Given the description of an element on the screen output the (x, y) to click on. 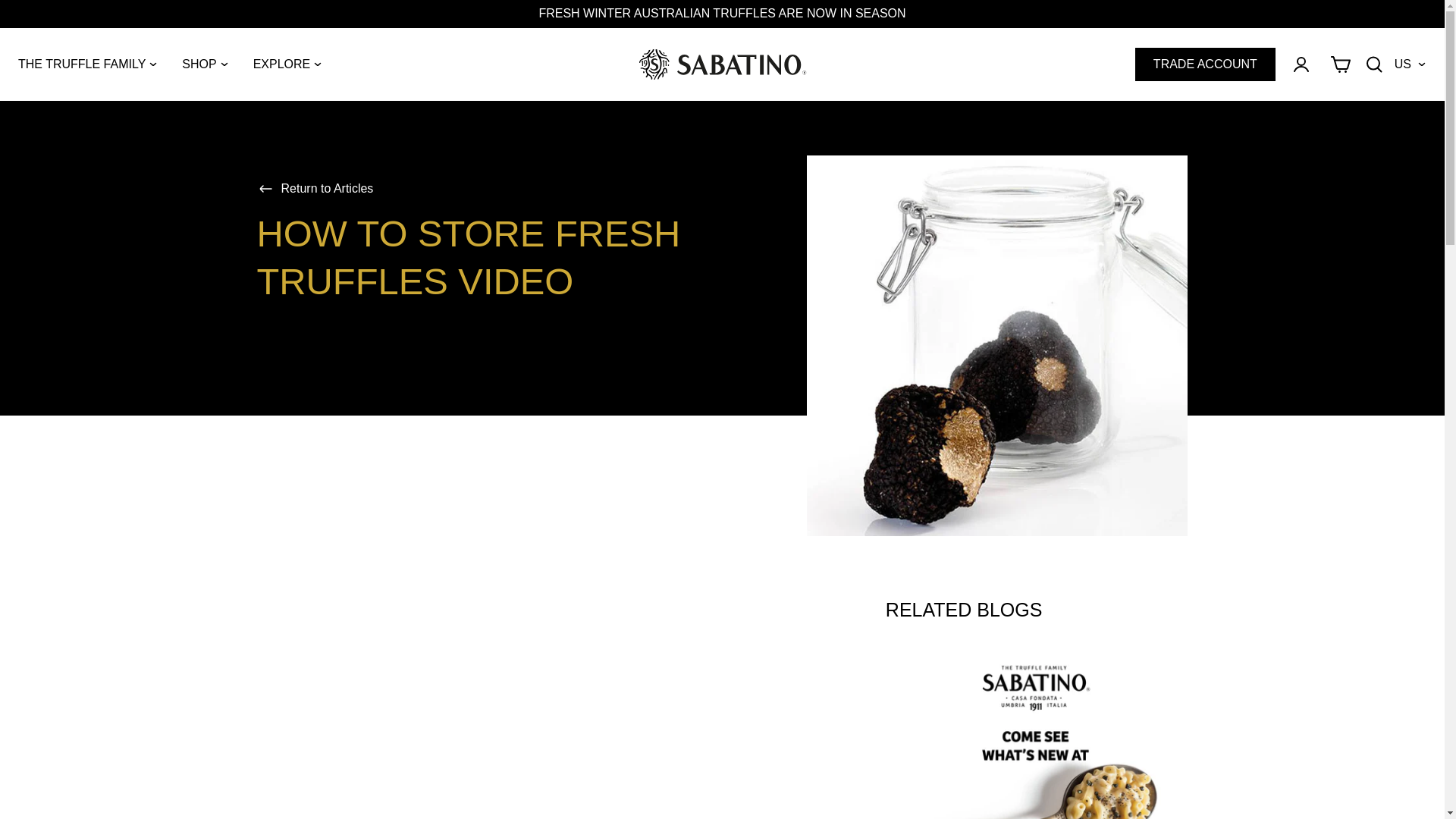
TRADE ACCOUNT (1205, 64)
FRESH WINTER AUSTRALIAN TRUFFLES ARE NOW IN SEASON (721, 12)
